Given the description of an element on the screen output the (x, y) to click on. 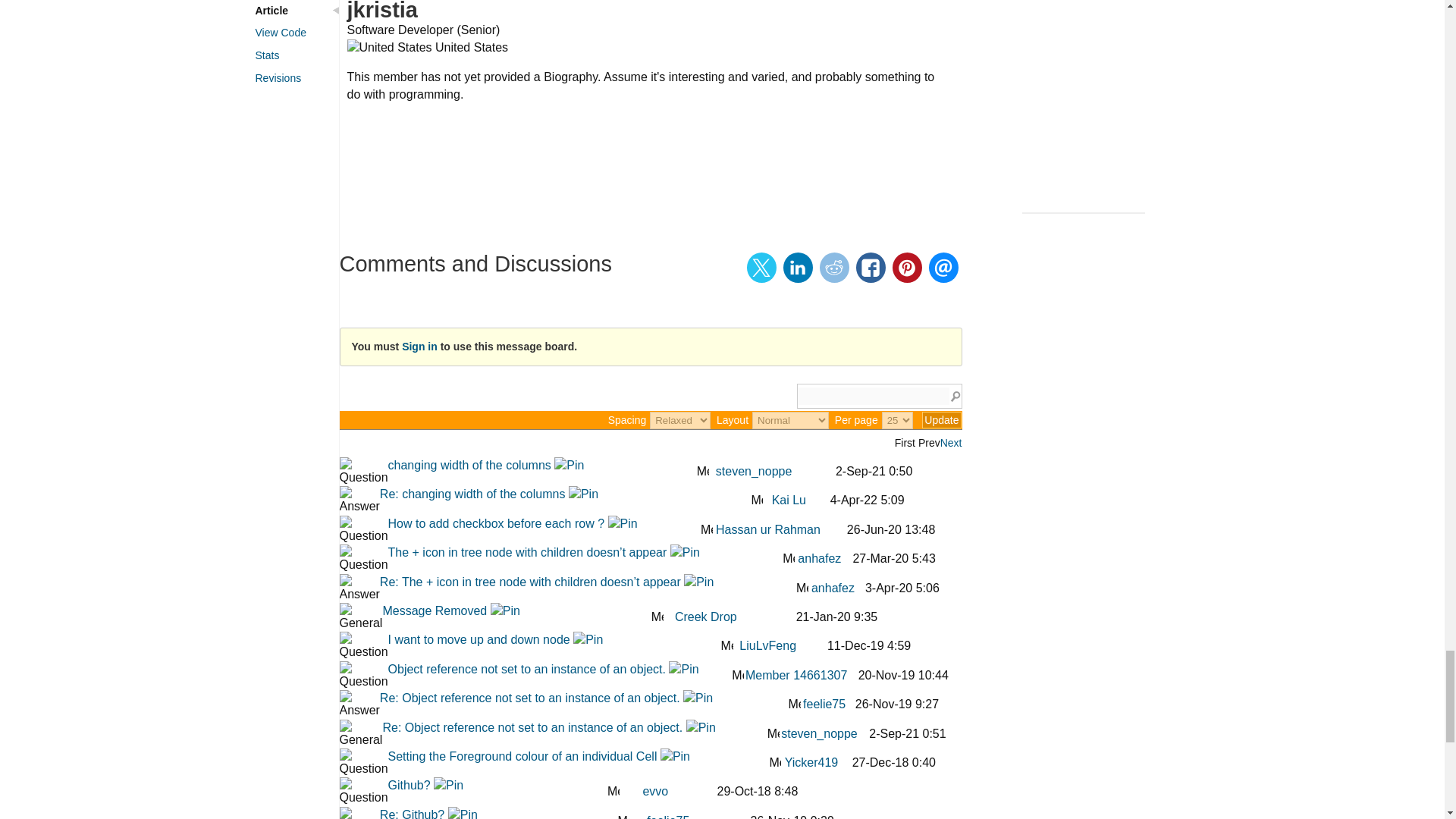
Member (703, 469)
Question (363, 471)
Click to pin message (568, 464)
Update (940, 419)
